Given the description of an element on the screen output the (x, y) to click on. 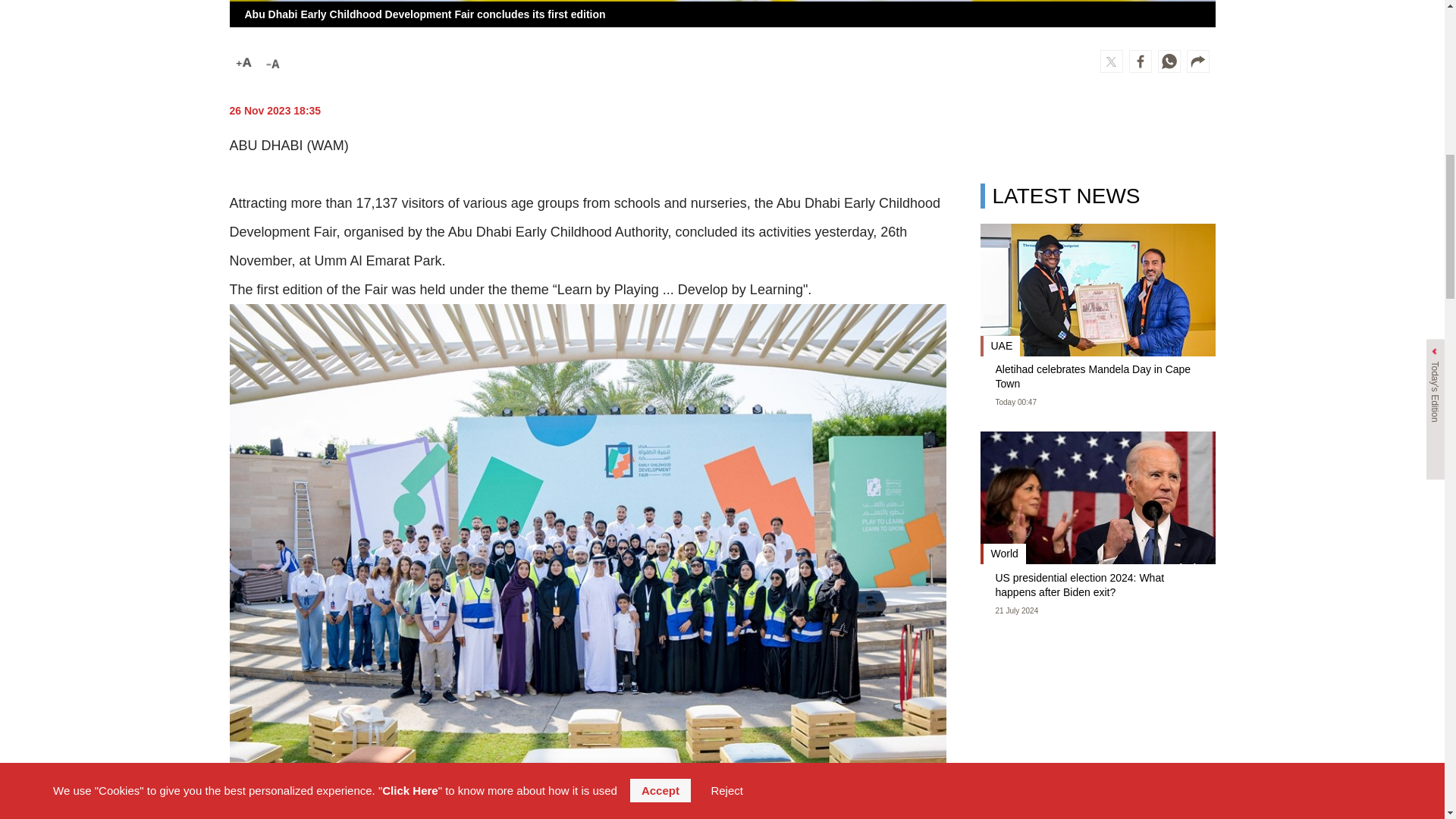
Aletihad celebrates Mandela Day in Cape Town (1096, 377)
